Given the description of an element on the screen output the (x, y) to click on. 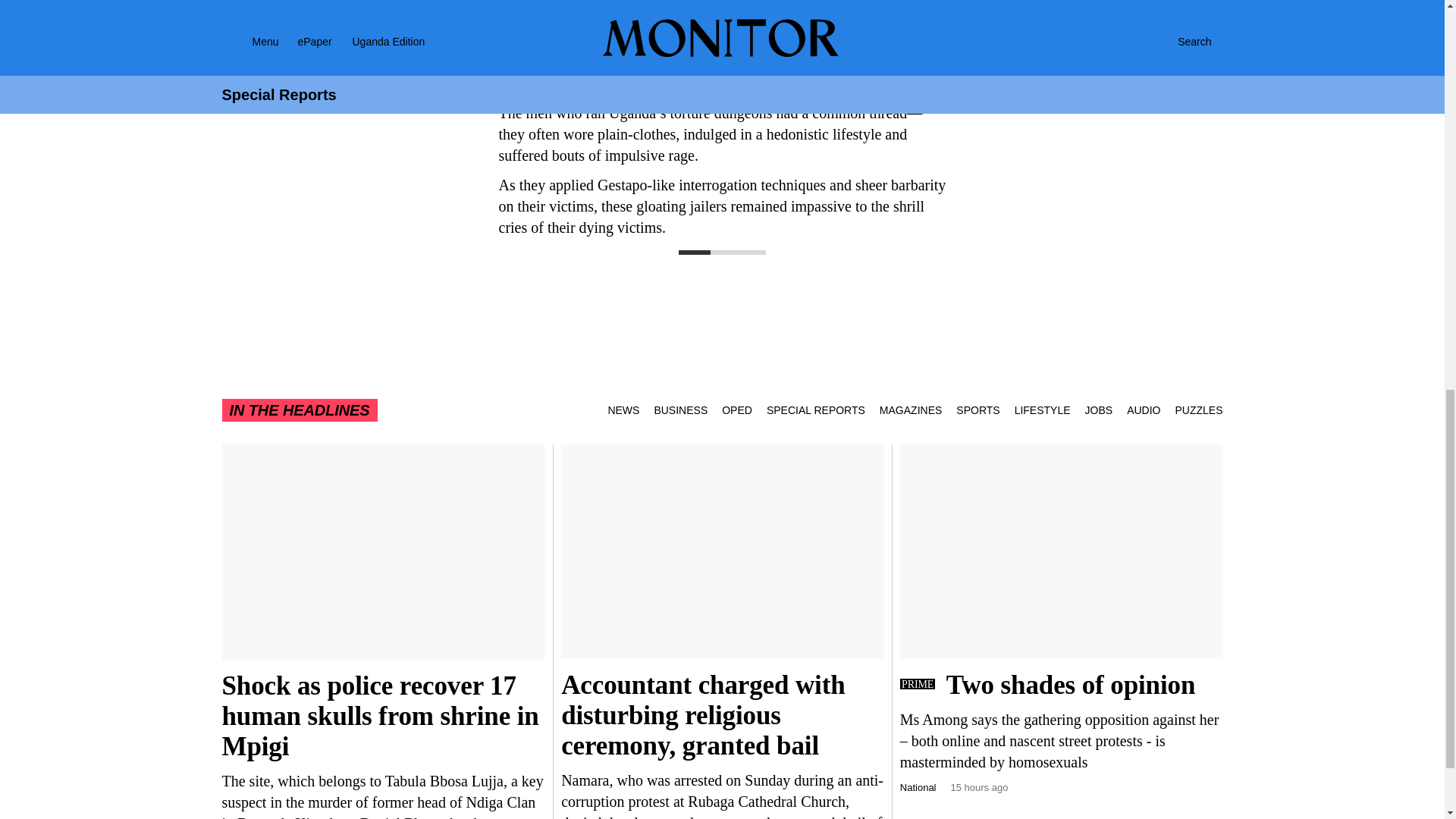
PRIME (916, 683)
